Given the description of an element on the screen output the (x, y) to click on. 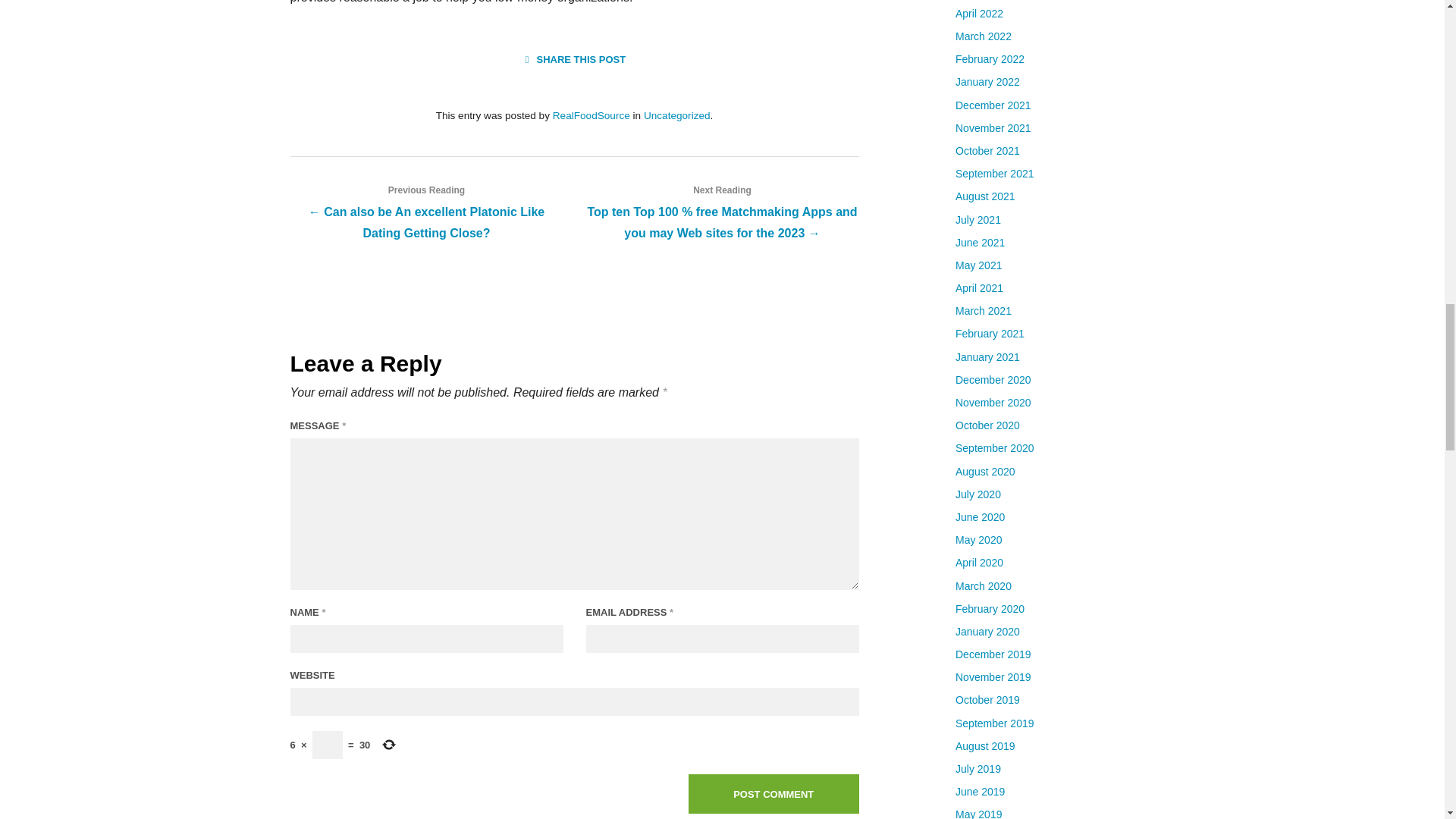
View all posts by RealFoodSource (591, 115)
Uncategorized (676, 115)
RealFoodSource (591, 115)
Post Comment (773, 793)
SHARE THIS POST (574, 59)
Post Comment (773, 793)
